Given the description of an element on the screen output the (x, y) to click on. 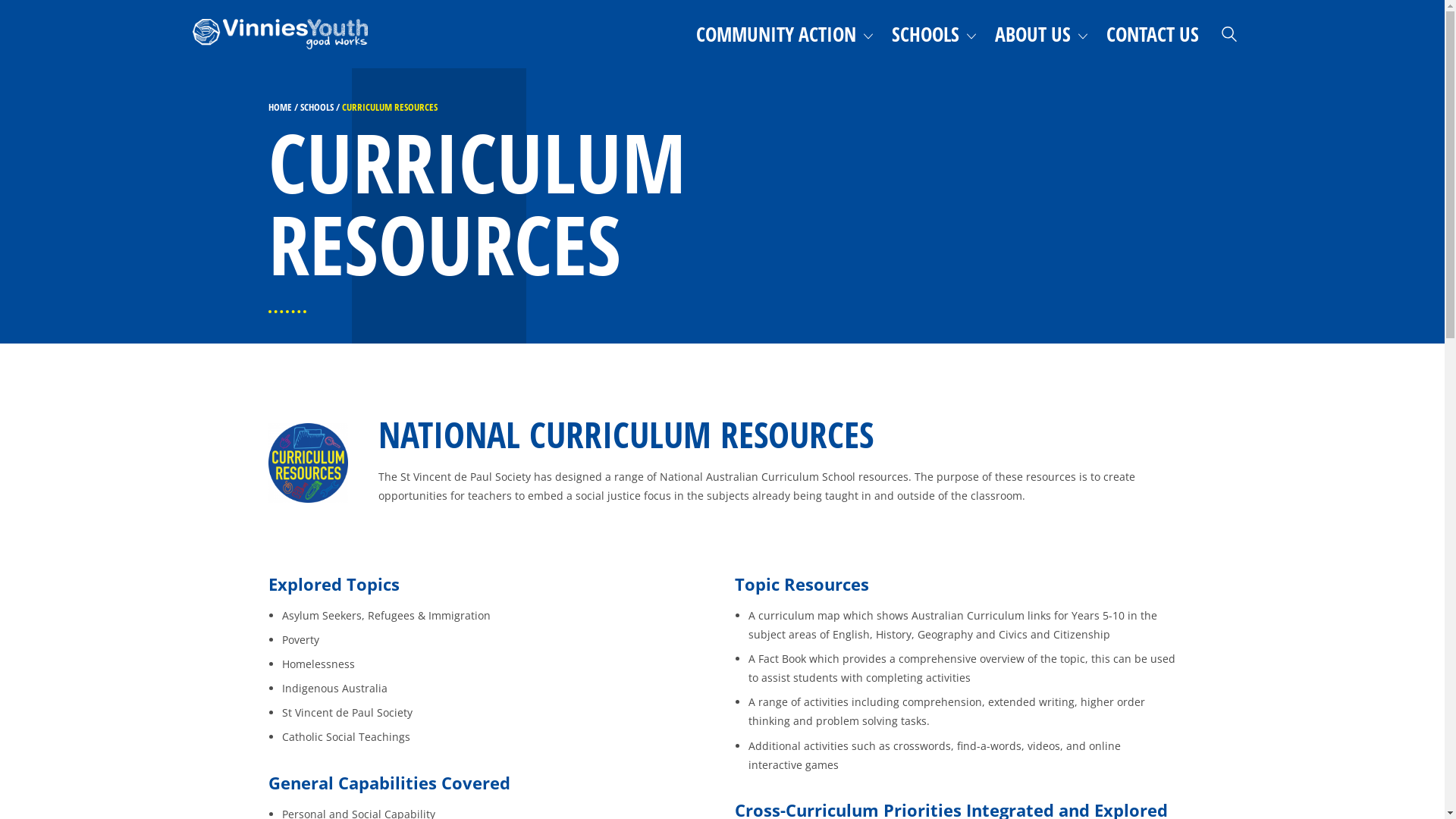
COMMUNITY ACTION Element type: text (784, 34)
SCHOOLS Element type: text (934, 34)
HOME Element type: text (279, 106)
SCHOOLS Element type: text (316, 106)
ABOUT US Element type: text (1041, 34)
Vinnies Youth Element type: hover (283, 33)
CONTACT US Element type: text (1152, 34)
